Given the description of an element on the screen output the (x, y) to click on. 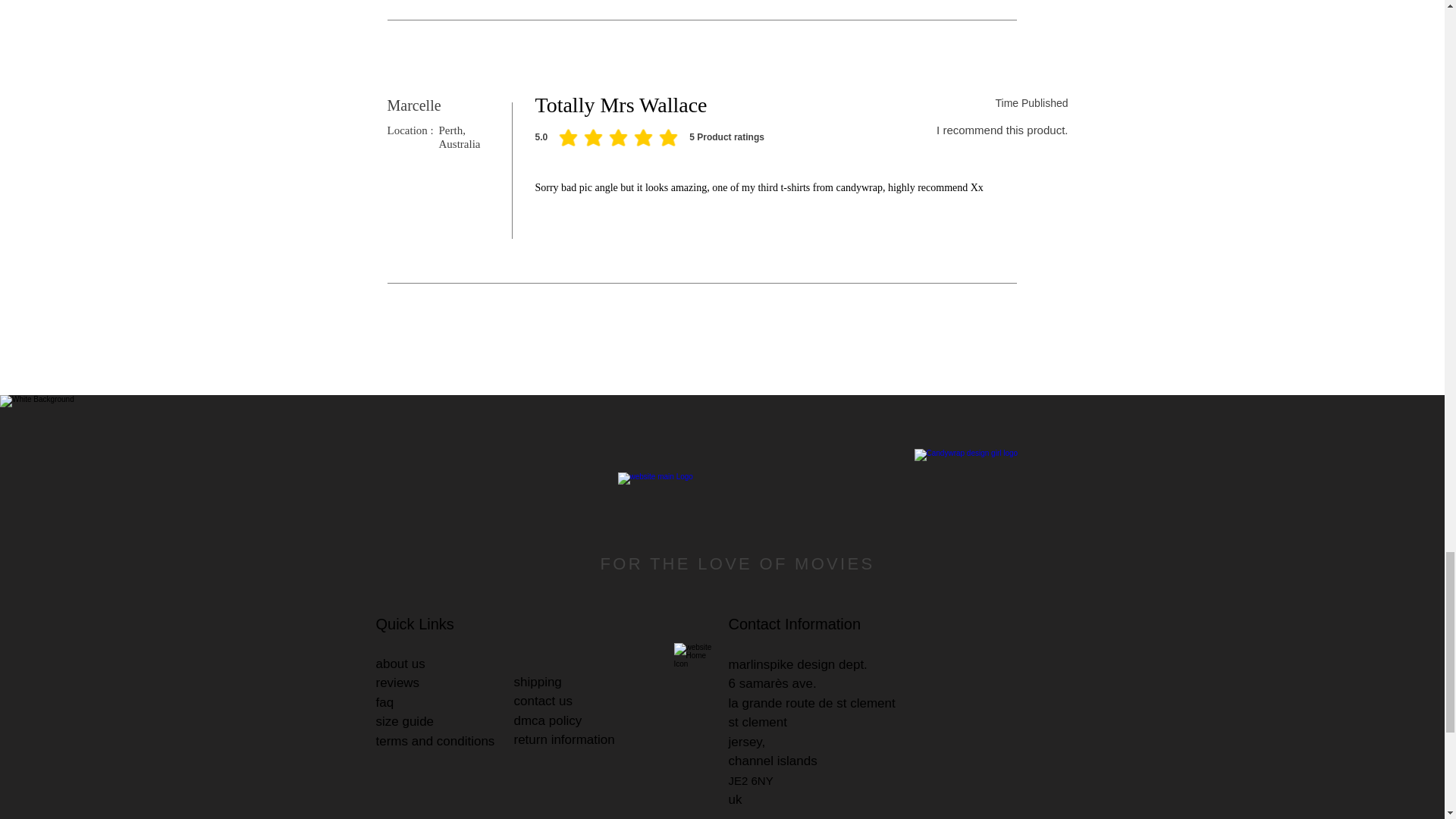
Address (691, 661)
It's all about the movies (733, 509)
